Given the description of an element on the screen output the (x, y) to click on. 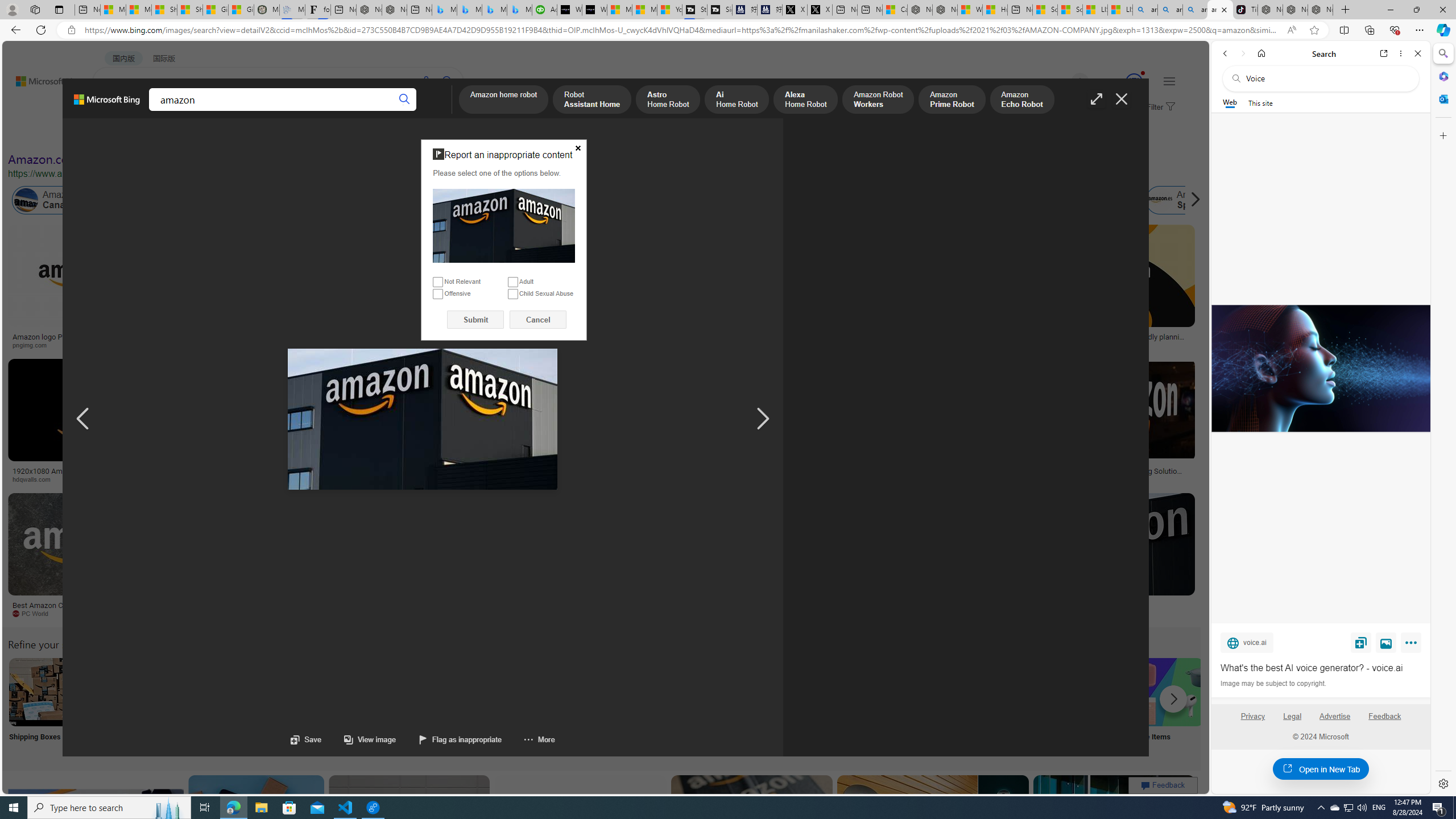
What's the best AI voice generator? - voice.ai (1320, 667)
Scroll right (1192, 199)
Date (336, 135)
Shanghai, China weather forecast | Microsoft Weather (189, 9)
License (378, 135)
Privacy (1252, 720)
Microsoft Start Sports (619, 9)
Retail Store (493, 706)
Microsoft Bing Travel - Stays in Bangkok, Bangkok, Thailand (469, 9)
This site scope (1259, 102)
Alexa Smart Home Devices (673, 332)
